Given the description of an element on the screen output the (x, y) to click on. 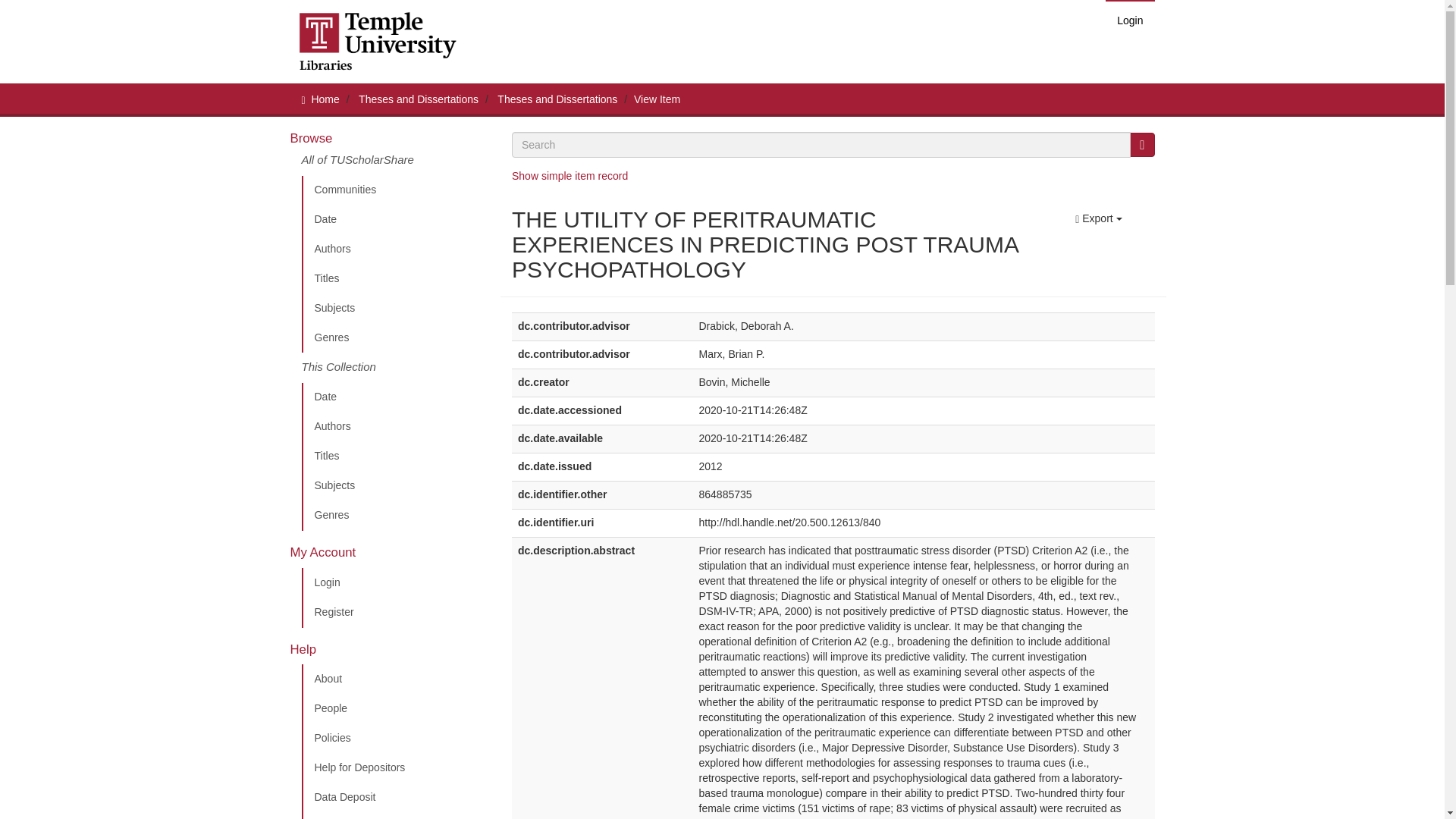
Login (1129, 19)
Subjects (395, 485)
Help for Depositors (395, 767)
About (395, 679)
Authors (395, 249)
Communities (395, 190)
Titles (395, 456)
Genres (395, 337)
People (395, 708)
Theses and Dissertations (418, 99)
Data Deposit (395, 797)
Date (395, 219)
Authors (395, 426)
Subjects (395, 308)
Export (1098, 218)
